Given the description of an element on the screen output the (x, y) to click on. 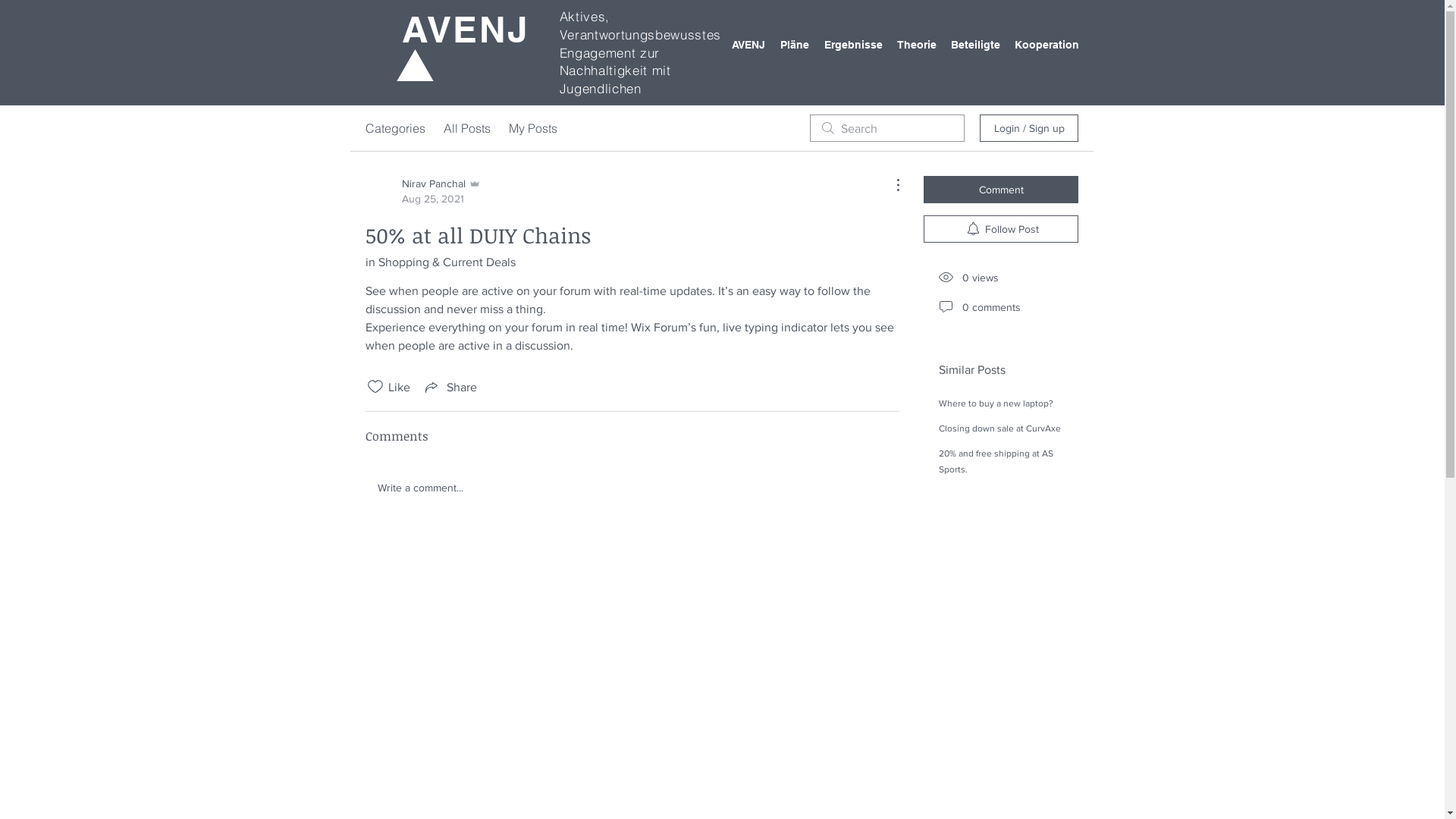
Beteiligte Element type: text (967, 44)
AVENJ Element type: text (739, 44)
Write a comment... Element type: text (632, 487)
AVENJ Element type: text (465, 28)
Comment Element type: text (1000, 189)
My Posts Element type: text (532, 128)
Follow Post Element type: text (1000, 228)
Theorie Element type: text (909, 44)
Ergebnisse Element type: text (844, 44)
Categories Element type: text (395, 128)
Kooperation Element type: text (1038, 44)
Where to buy a new laptop? Element type: text (995, 403)
in Shopping & Current Deals Element type: text (440, 261)
All Posts Element type: text (466, 128)
Closing down sale at CurvAxe Element type: text (999, 428)
20% and free shipping at AS Sports. Element type: text (995, 461)
Share Element type: text (449, 386)
Login / Sign up Element type: text (1028, 127)
